Given the description of an element on the screen output the (x, y) to click on. 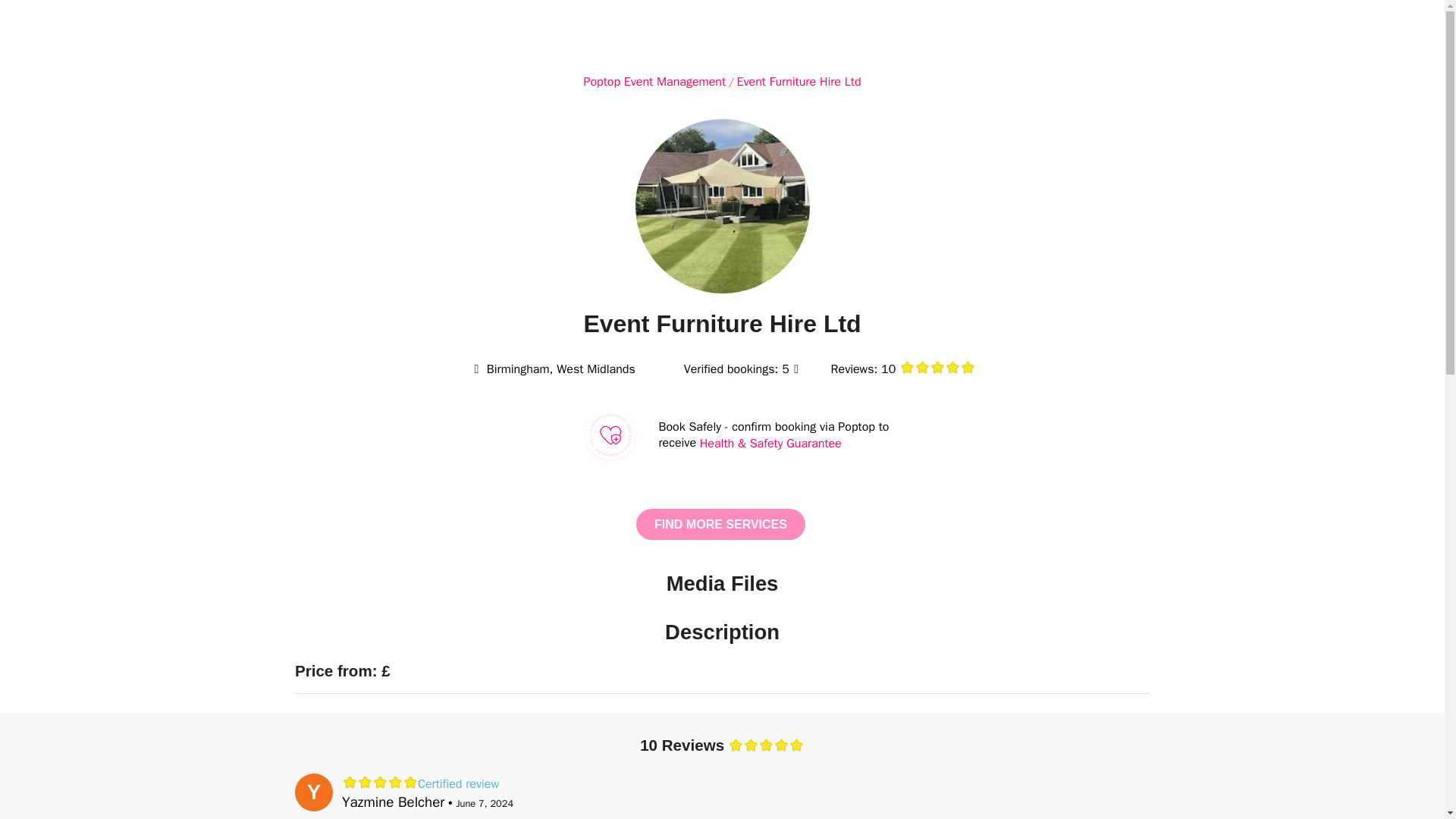
Poptop Event Management (654, 81)
Event Furniture Hire Ltd (798, 81)
FIND MORE SERVICES (720, 523)
